Given the description of an element on the screen output the (x, y) to click on. 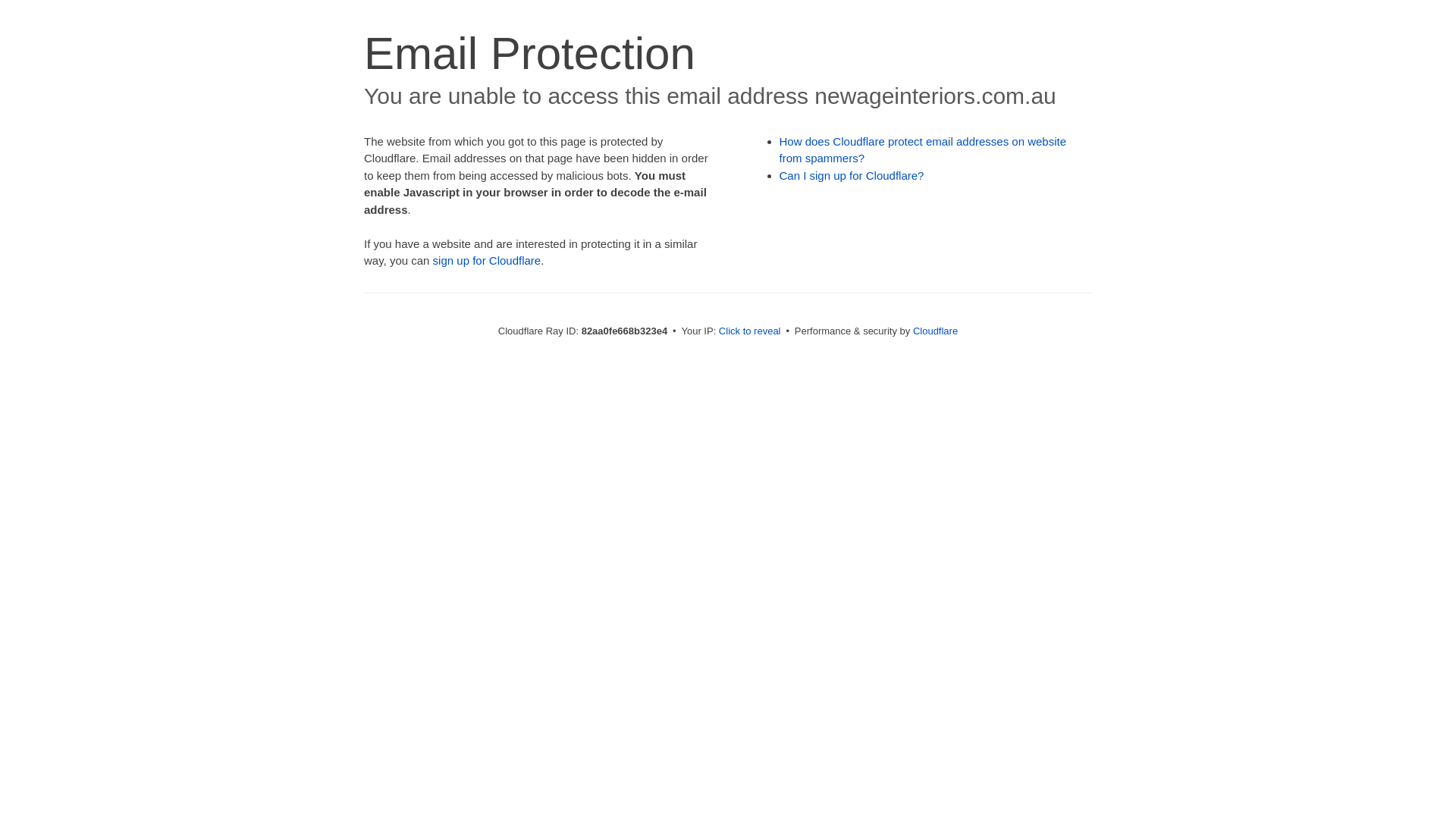
Click to reveal Element type: text (749, 330)
sign up for Cloudflare Element type: text (487, 260)
Cloudflare Element type: text (935, 330)
Can I sign up for Cloudflare? Element type: text (851, 175)
